Given the description of an element on the screen output the (x, y) to click on. 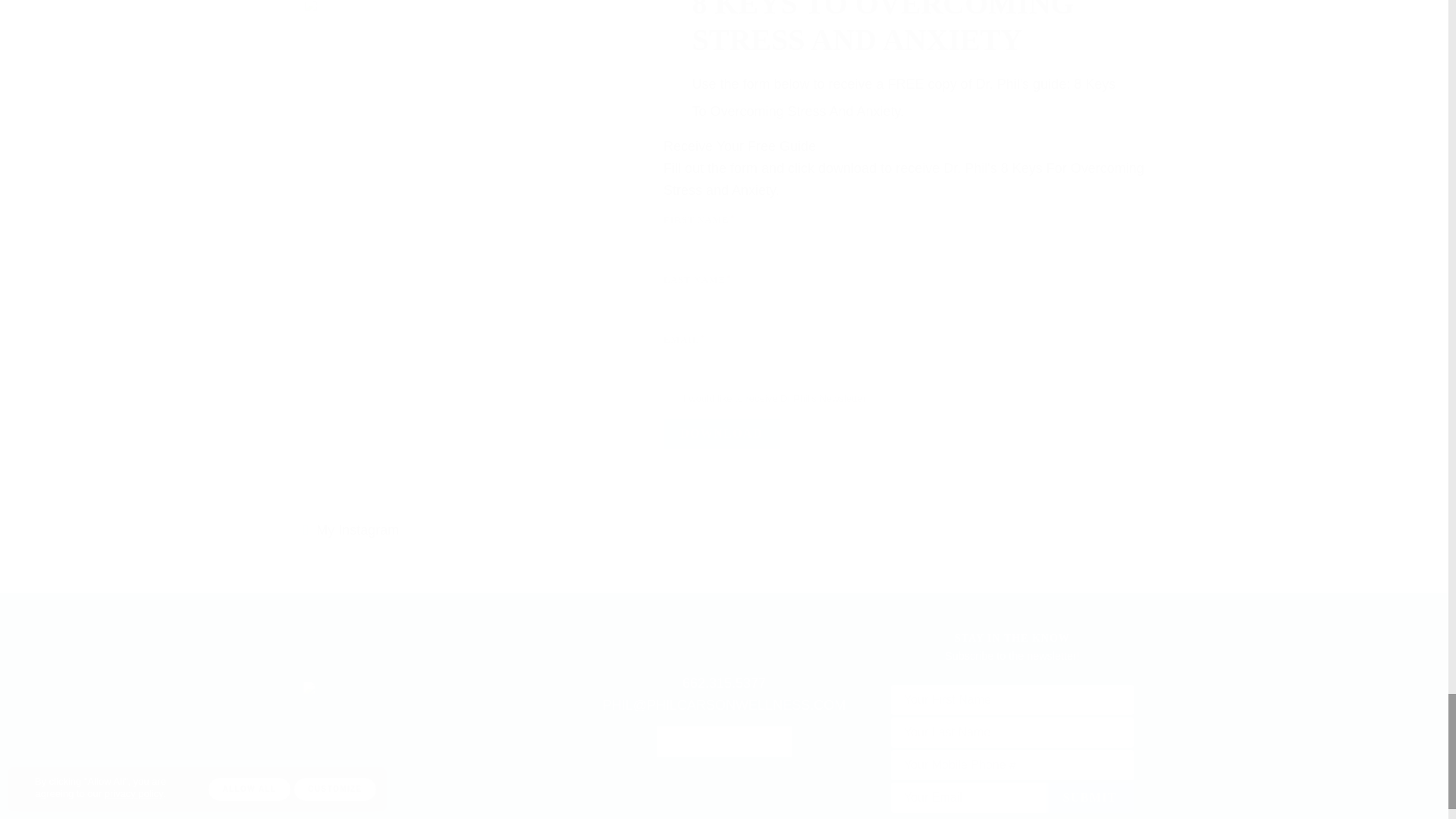
DOWNLOAD (720, 433)
Submit (1089, 797)
Submit (1089, 797)
GET IN TOUCH (724, 741)
